Given the description of an element on the screen output the (x, y) to click on. 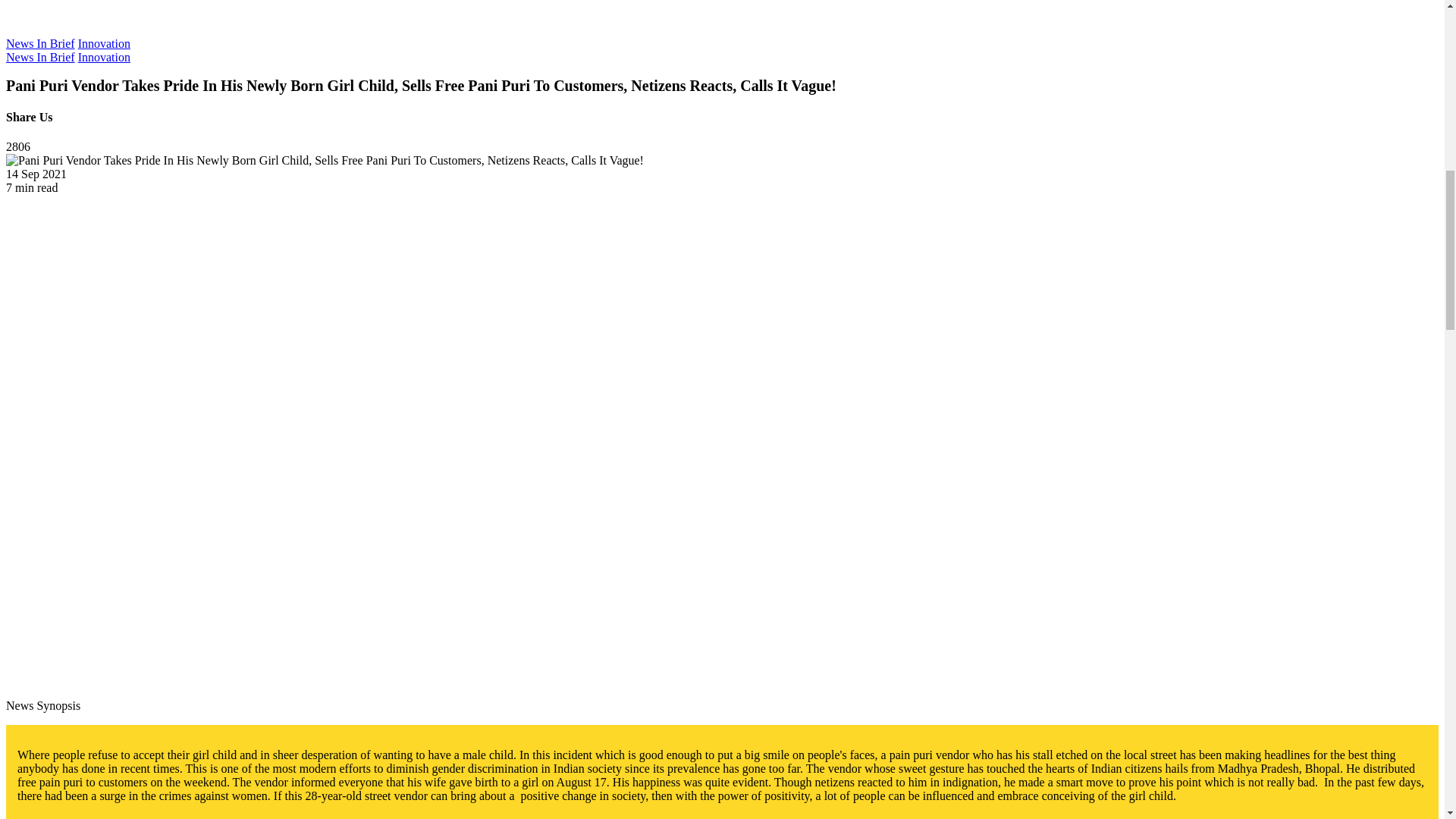
News In Brief (40, 56)
Innovation (104, 42)
Advertisement (721, 17)
Innovation (104, 56)
News In Brief (40, 42)
